Given the description of an element on the screen output the (x, y) to click on. 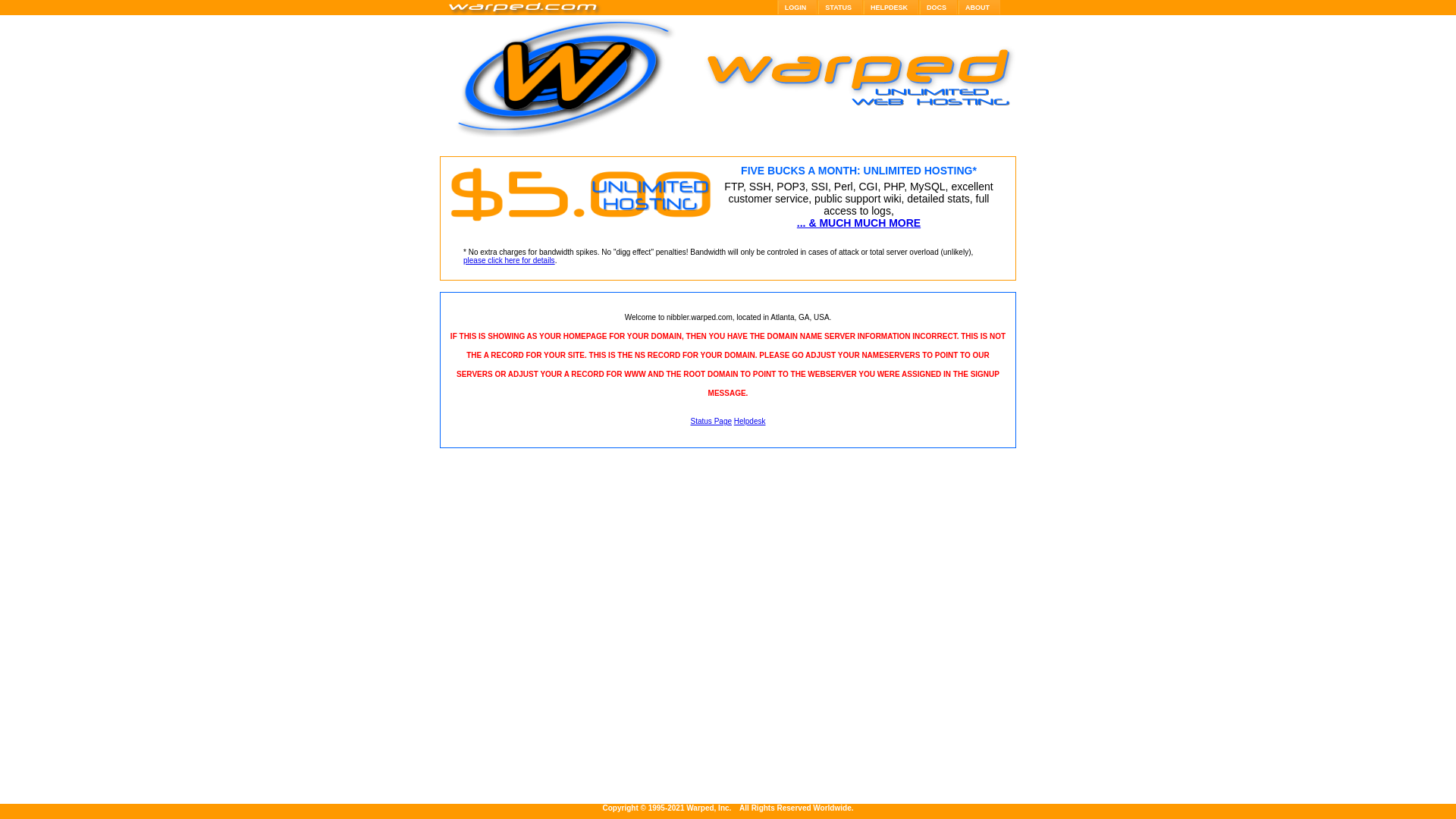
... & MUCH MUCH MORE Element type: text (858, 222)
LOGIN Element type: text (797, 7)
HELPDESK Element type: text (890, 7)
please click here for details Element type: text (509, 260)
ABOUT Element type: text (979, 7)
Helpdesk Element type: text (749, 421)
Status Page Element type: text (710, 421)
STATUS Element type: text (839, 7)
DOCS Element type: text (938, 7)
